Given the description of an element on the screen output the (x, y) to click on. 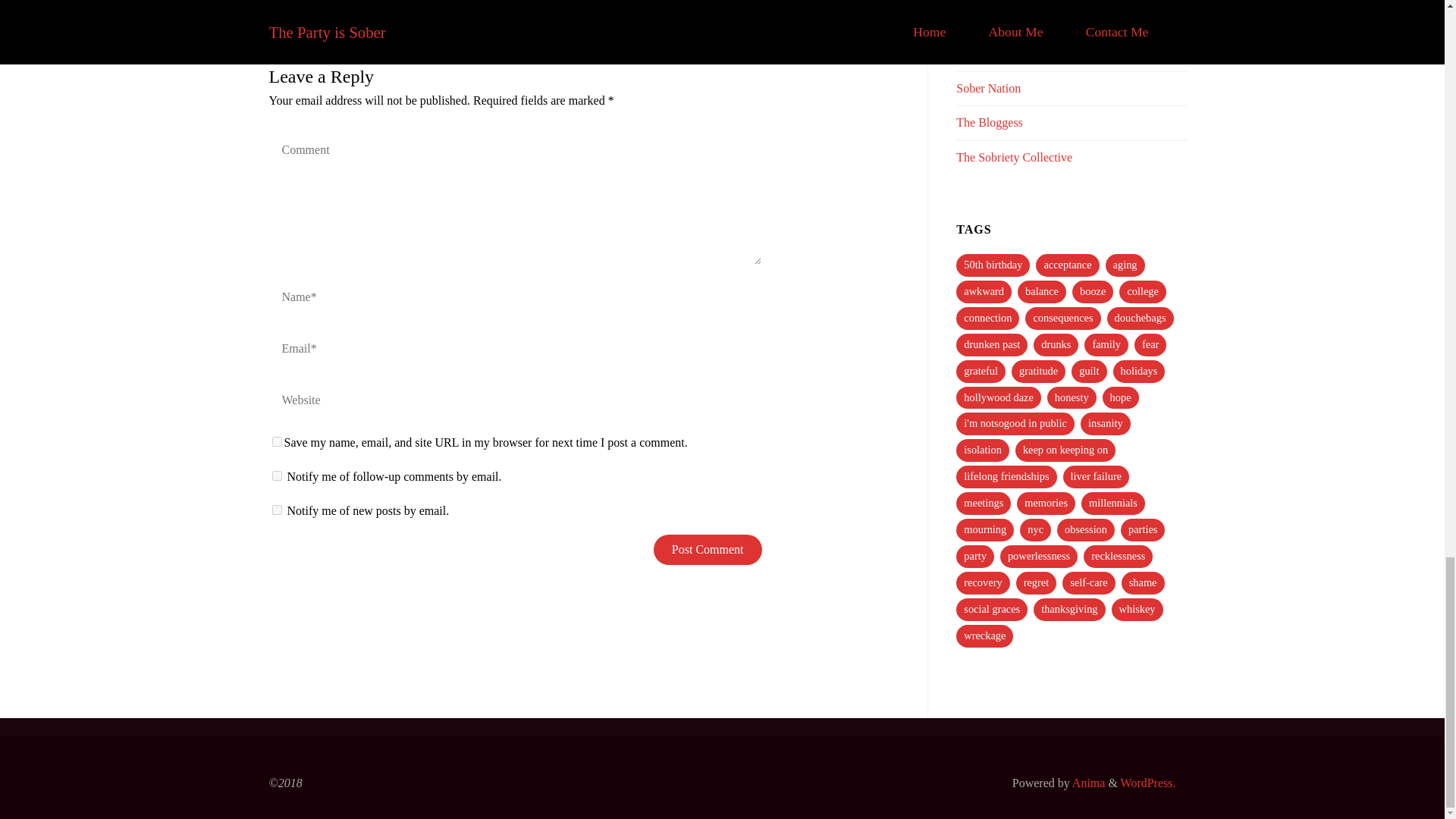
Anima WordPress Theme by Cryout Creations (1087, 782)
subscribe (275, 475)
6 years ago (384, 8)
Post Comment (707, 549)
Post Comment (707, 549)
Like Mother Theresa, only better. (989, 122)
Reply (857, 10)
subscribe (275, 510)
Get some help! (988, 88)
yes (275, 441)
